Given the description of an element on the screen output the (x, y) to click on. 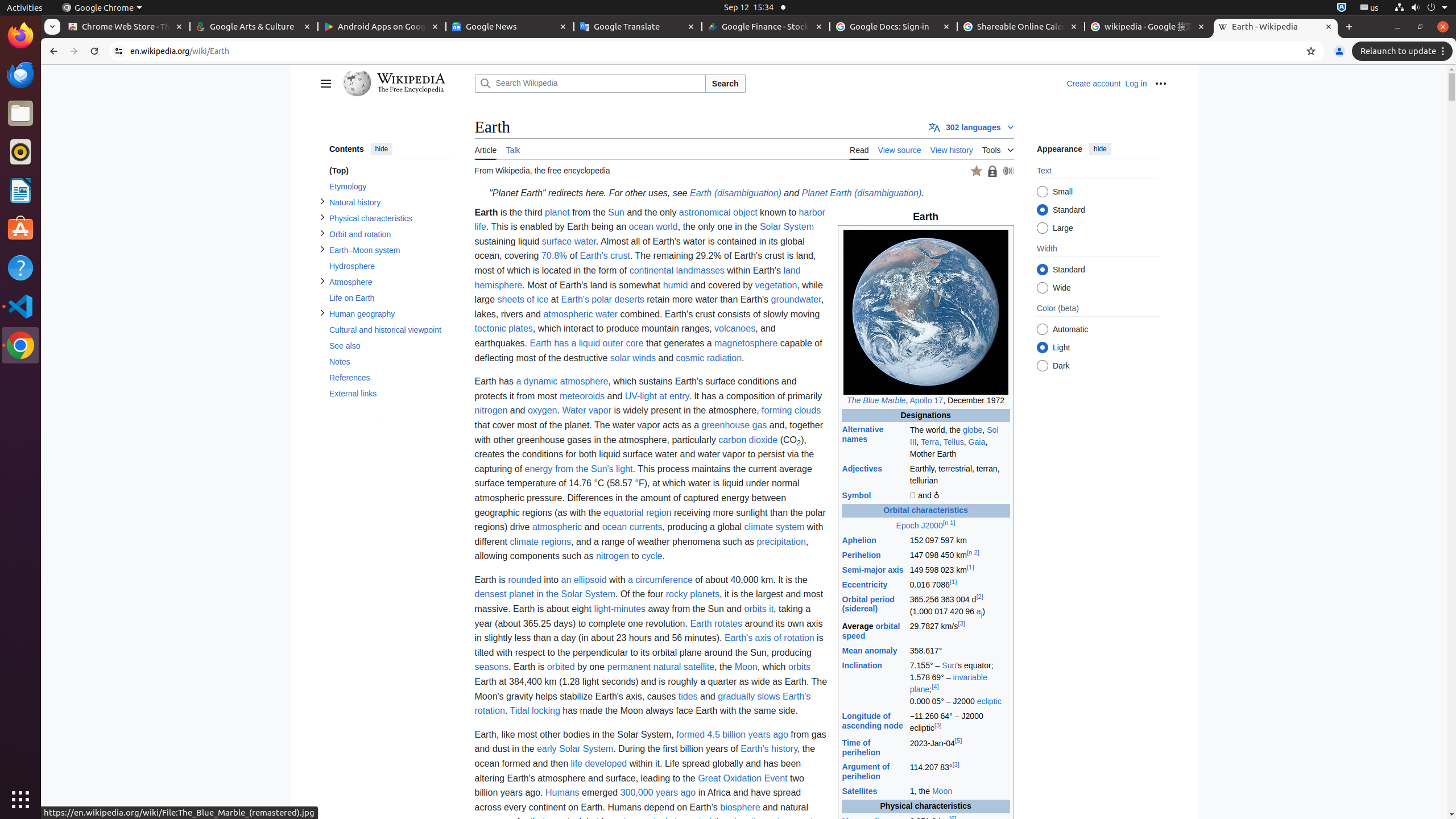
Solar System Element type: link (786, 226)
Earth–Moon system Element type: link (390, 250)
seasons Element type: link (491, 667)
Wide Element type: radio-button (1042, 288)
hide Element type: push-button (381, 148)
